Given the description of an element on the screen output the (x, y) to click on. 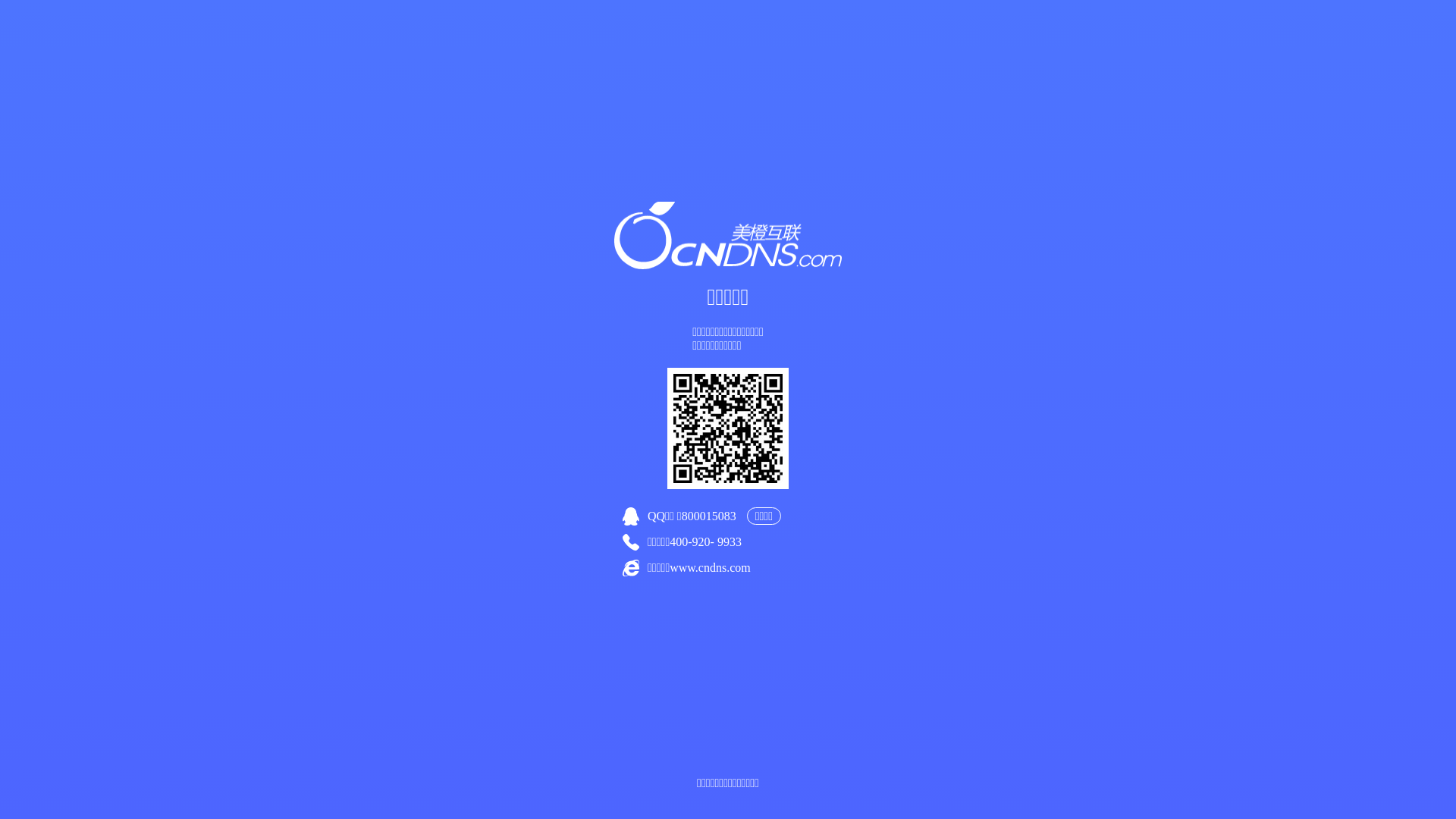
www.cndns.com Element type: text (709, 567)
